Given the description of an element on the screen output the (x, y) to click on. 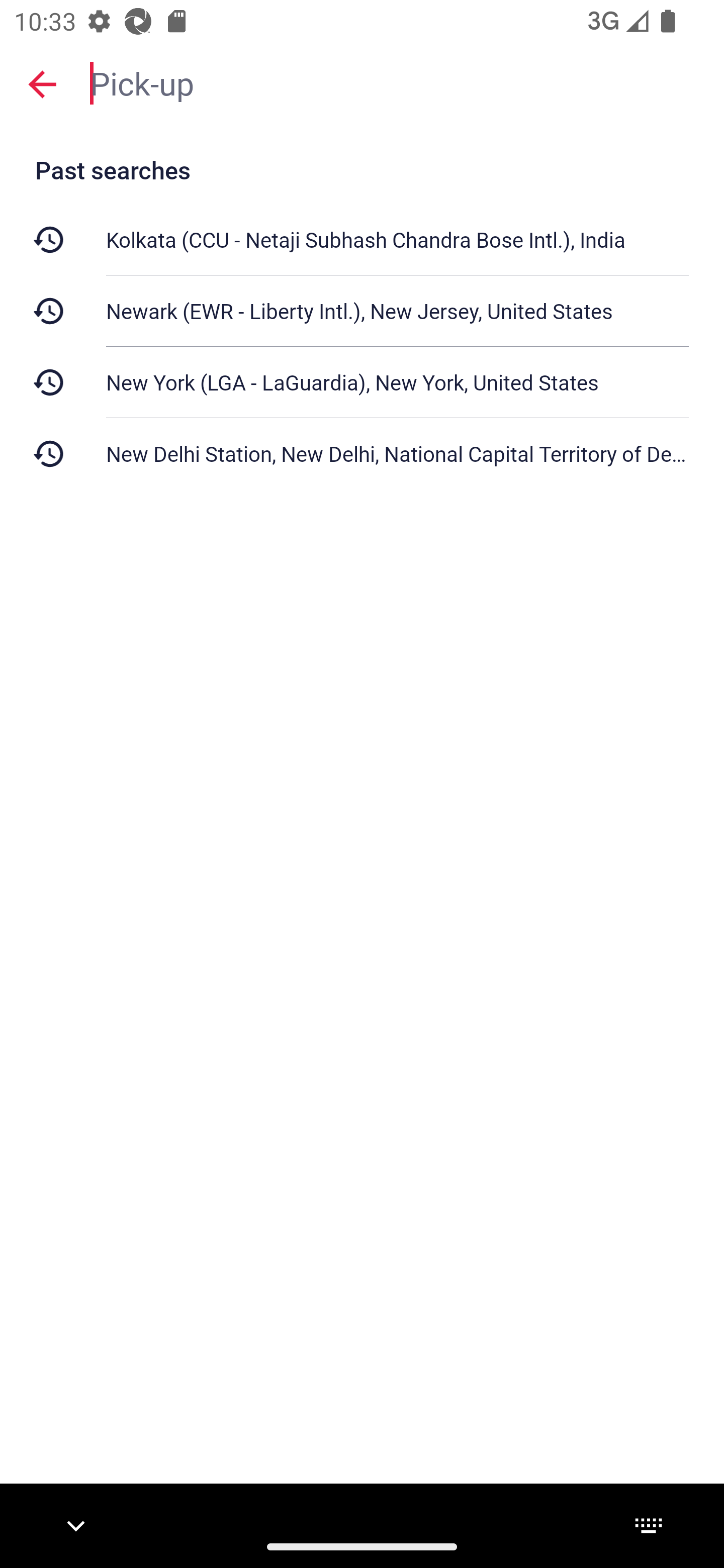
Pick-up,  (397, 82)
Close search screen (41, 83)
